Given the description of an element on the screen output the (x, y) to click on. 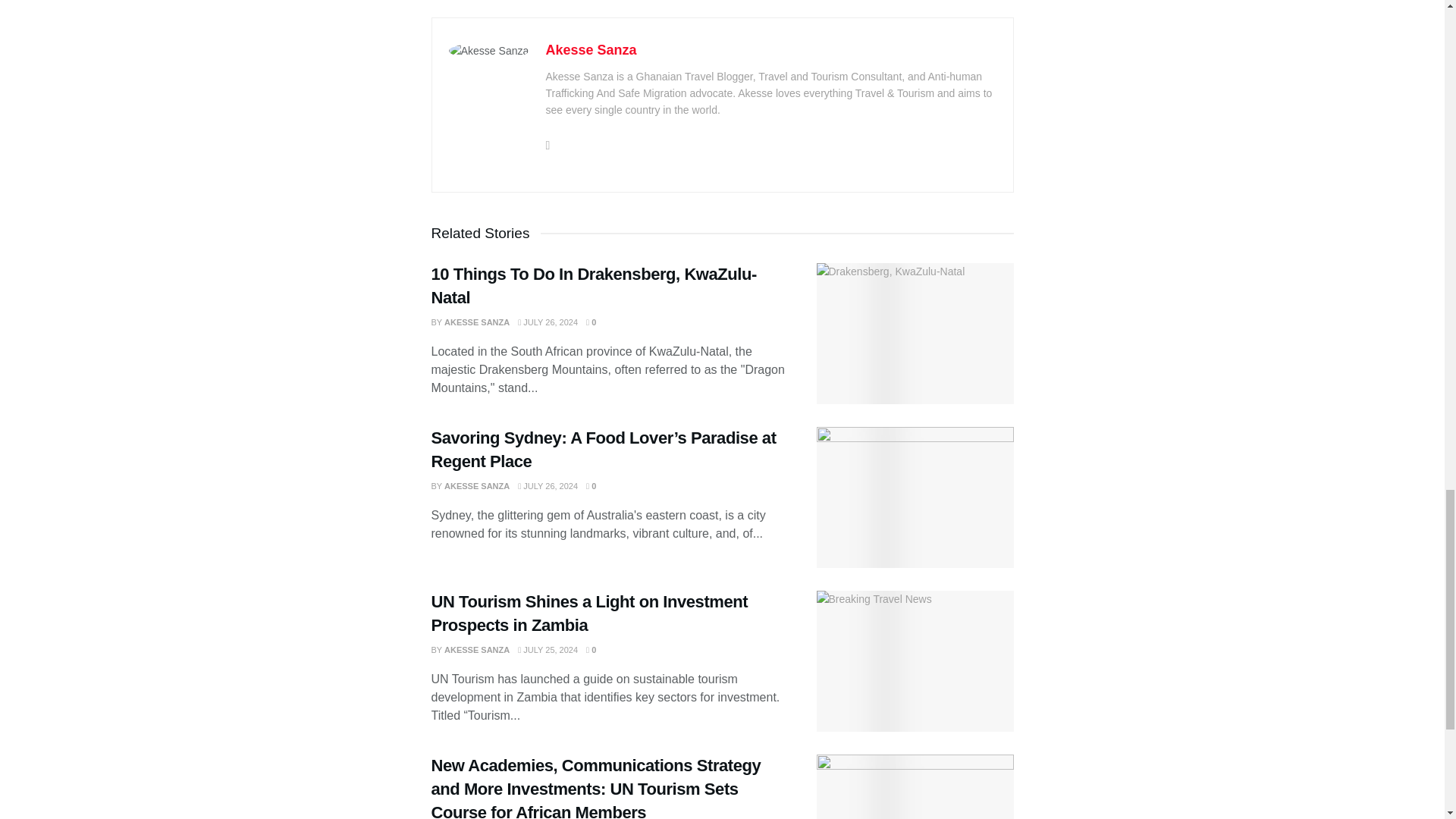
Akesse Sanza (591, 49)
